Given the description of an element on the screen output the (x, y) to click on. 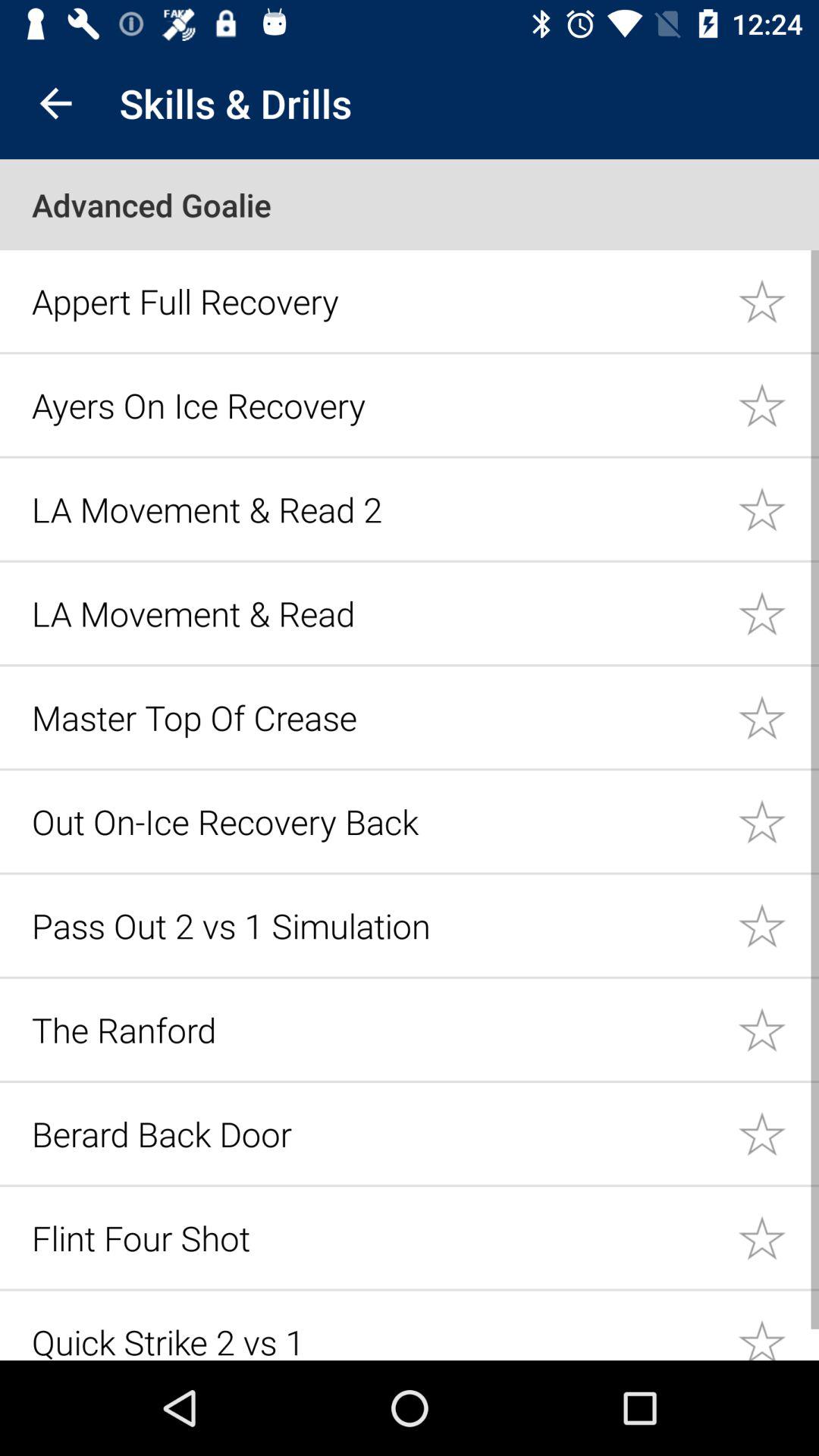
likes (778, 613)
